Given the description of an element on the screen output the (x, y) to click on. 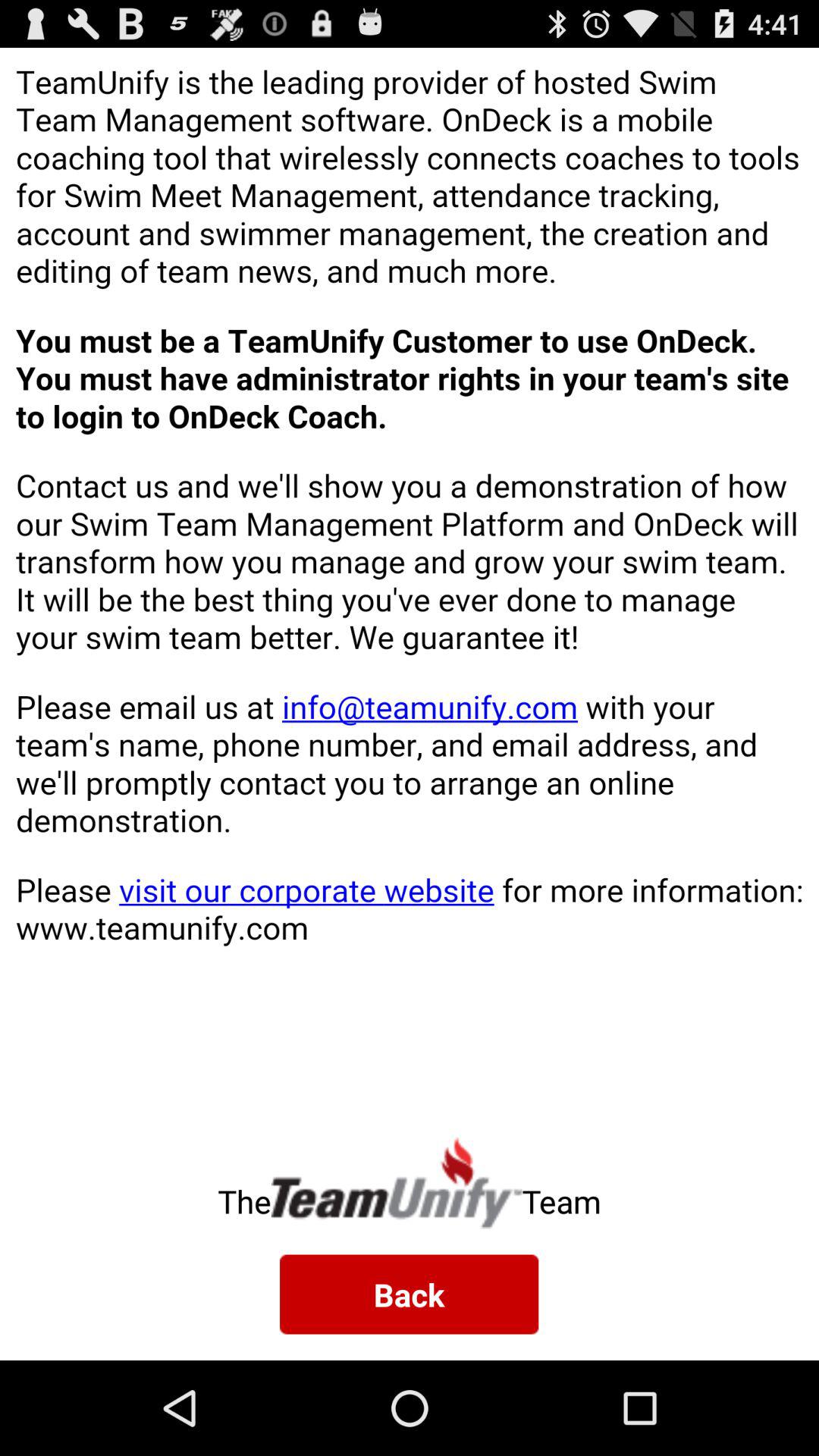
terms of use page (409, 580)
